Given the description of an element on the screen output the (x, y) to click on. 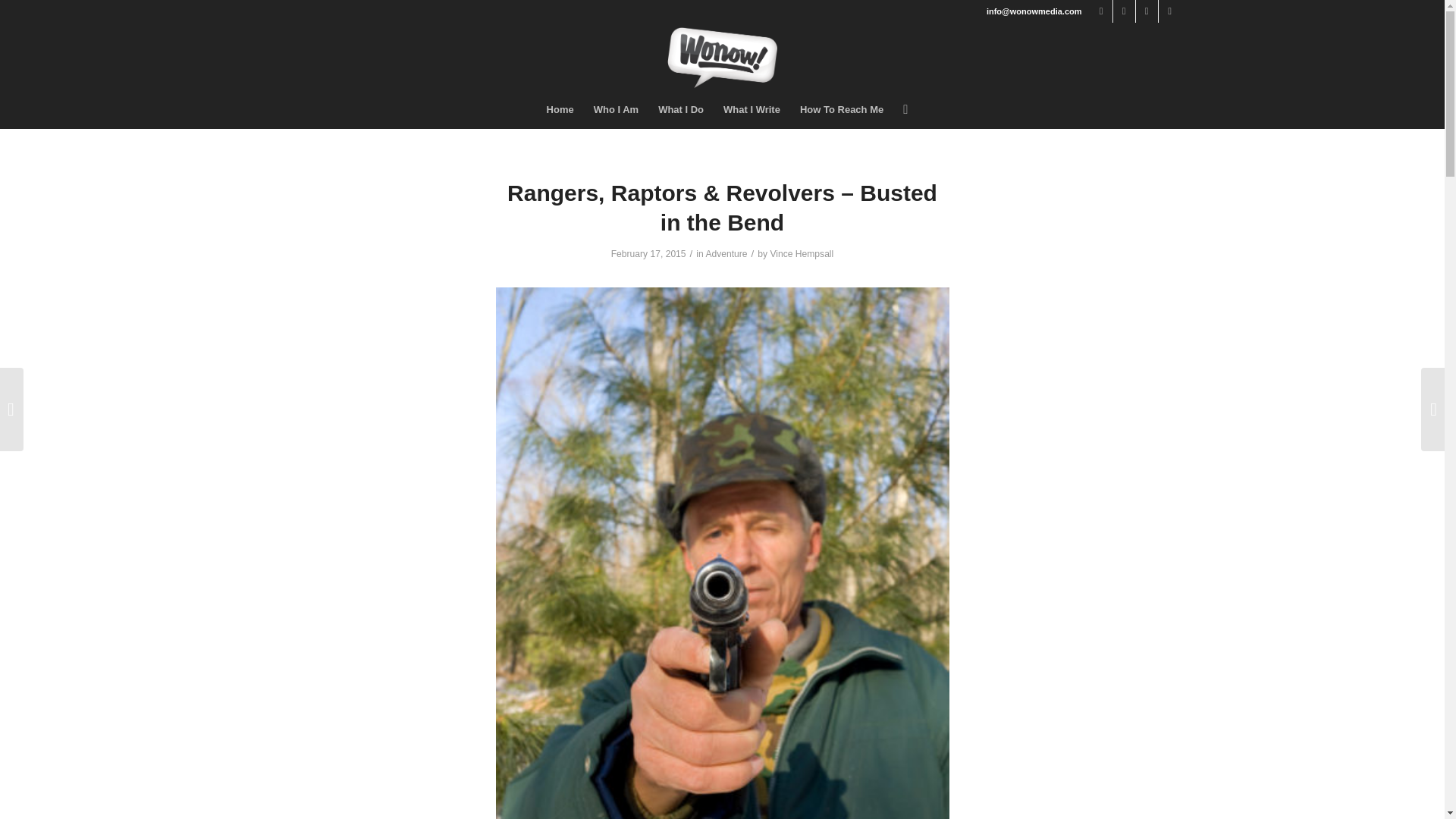
Twitter (1124, 11)
Vince Hempsall (801, 253)
Facebook (1101, 11)
What I Write (751, 109)
Youtube (1169, 11)
Home (560, 109)
Instagram (1146, 11)
Adventure (725, 253)
What I Do (680, 109)
How To Reach Me (841, 109)
